Given the description of an element on the screen output the (x, y) to click on. 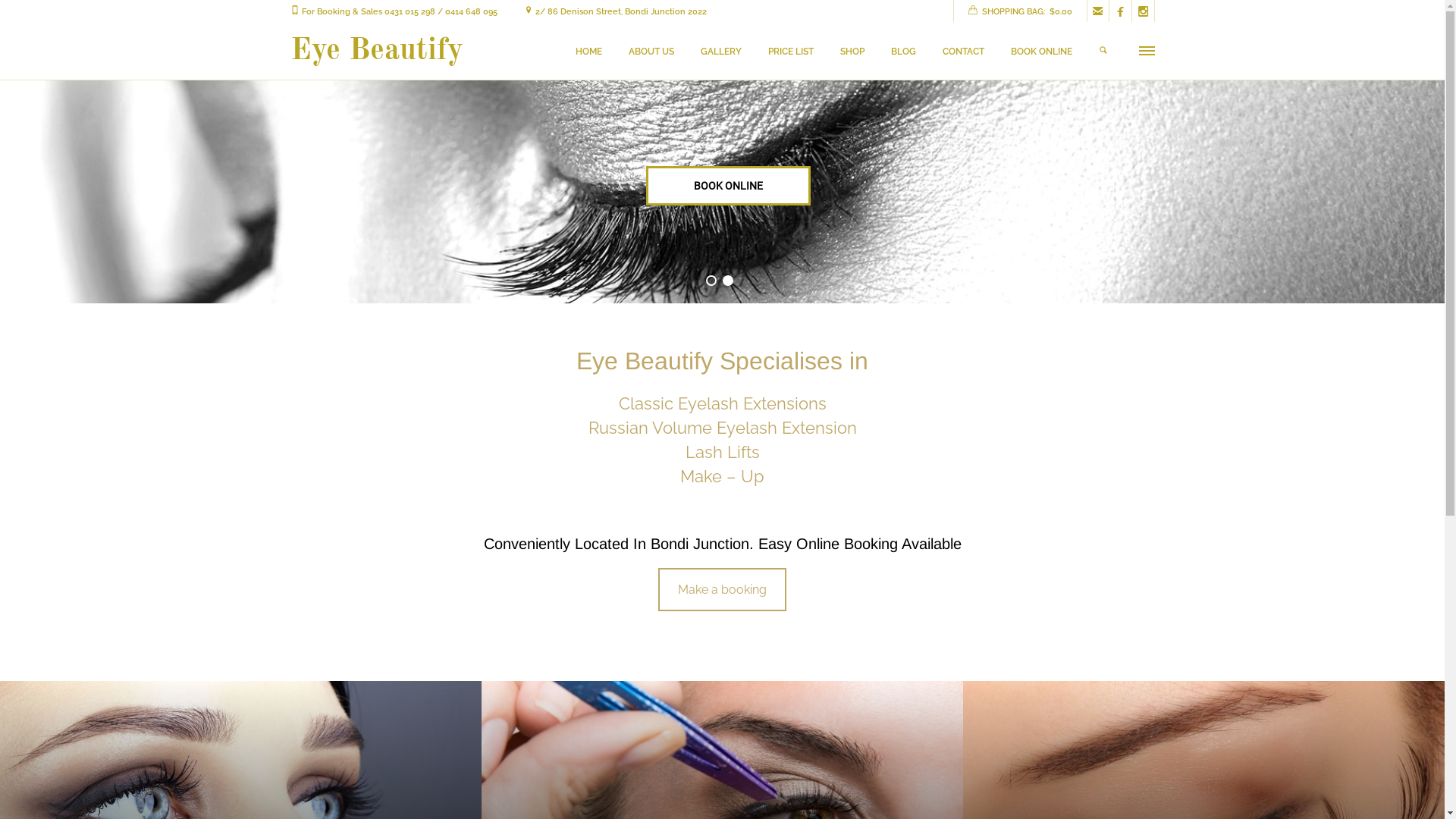
  SHOPPING BAG:  $0.00 Element type: text (1019, 11)
BLOG Element type: text (902, 51)
ABOUT US Element type: text (650, 51)
BOOK ONLINE Element type: text (1040, 51)
CONTACT Element type: text (962, 51)
Eye Beautify Element type: text (375, 51)
PRICE LIST Element type: text (789, 51)
GALLERY Element type: text (720, 51)
Make a booking Element type: text (722, 589)
SHOP Element type: text (852, 51)
  Element type: text (1103, 51)
HOME Element type: text (587, 51)
